Given the description of an element on the screen output the (x, y) to click on. 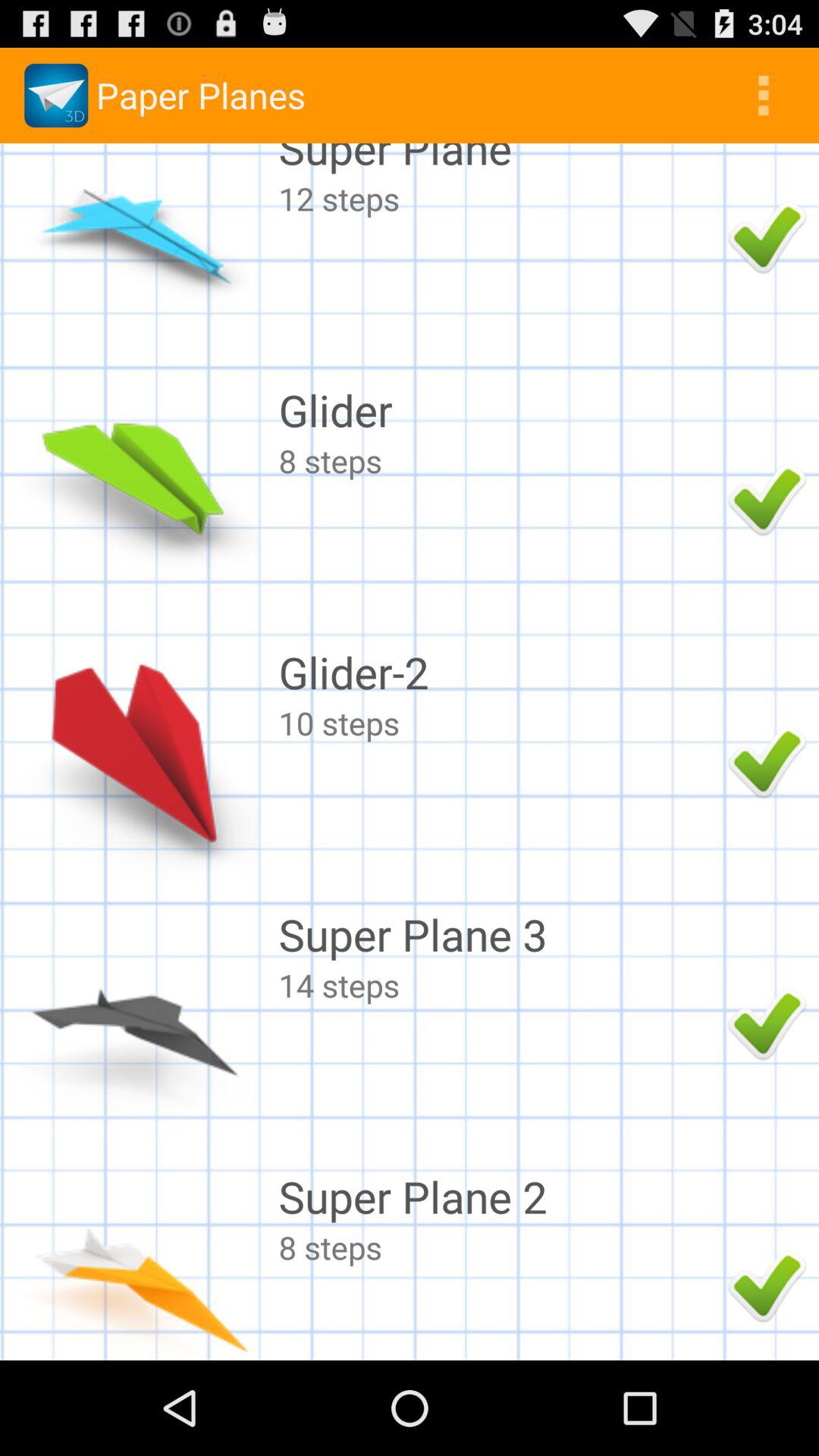
select the 12 steps (498, 198)
